Given the description of an element on the screen output the (x, y) to click on. 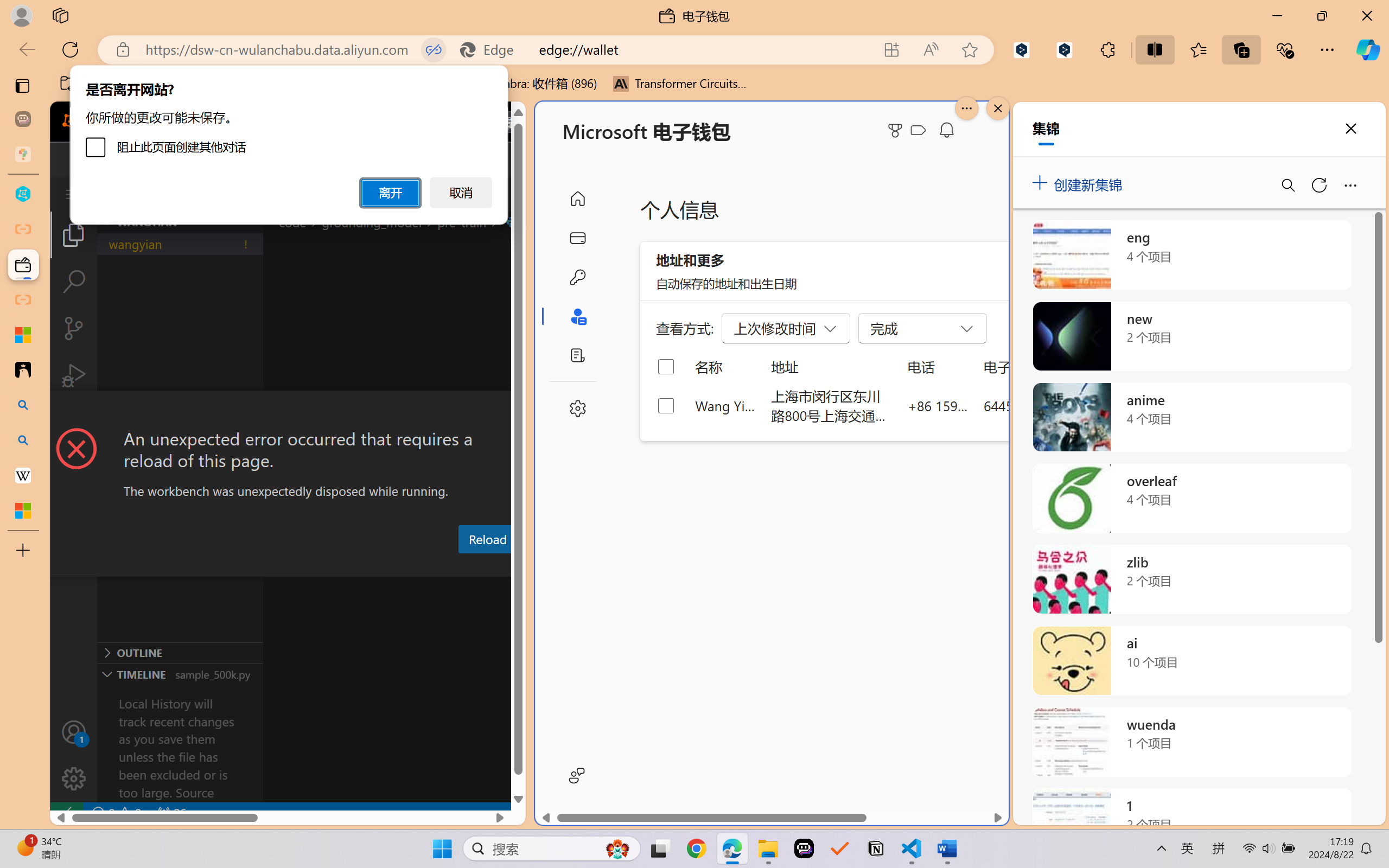
Outline Section (179, 652)
Manage (73, 755)
+86 159 0032 4640 (938, 405)
Timeline Section (179, 673)
